Given the description of an element on the screen output the (x, y) to click on. 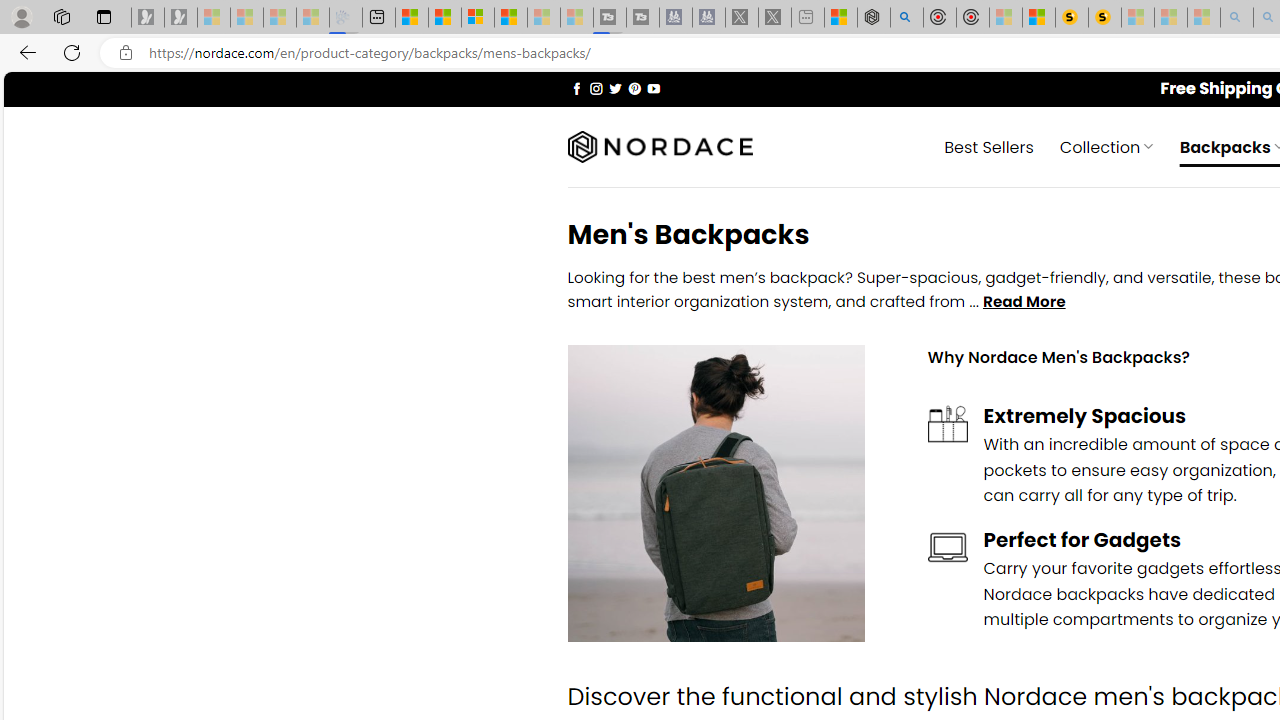
View site information (125, 53)
X - Sleeping (775, 17)
Overview (478, 17)
 Best Sellers (989, 146)
Follow on Pinterest (634, 88)
Streaming Coverage | T3 - Sleeping (609, 17)
